Given the description of an element on the screen output the (x, y) to click on. 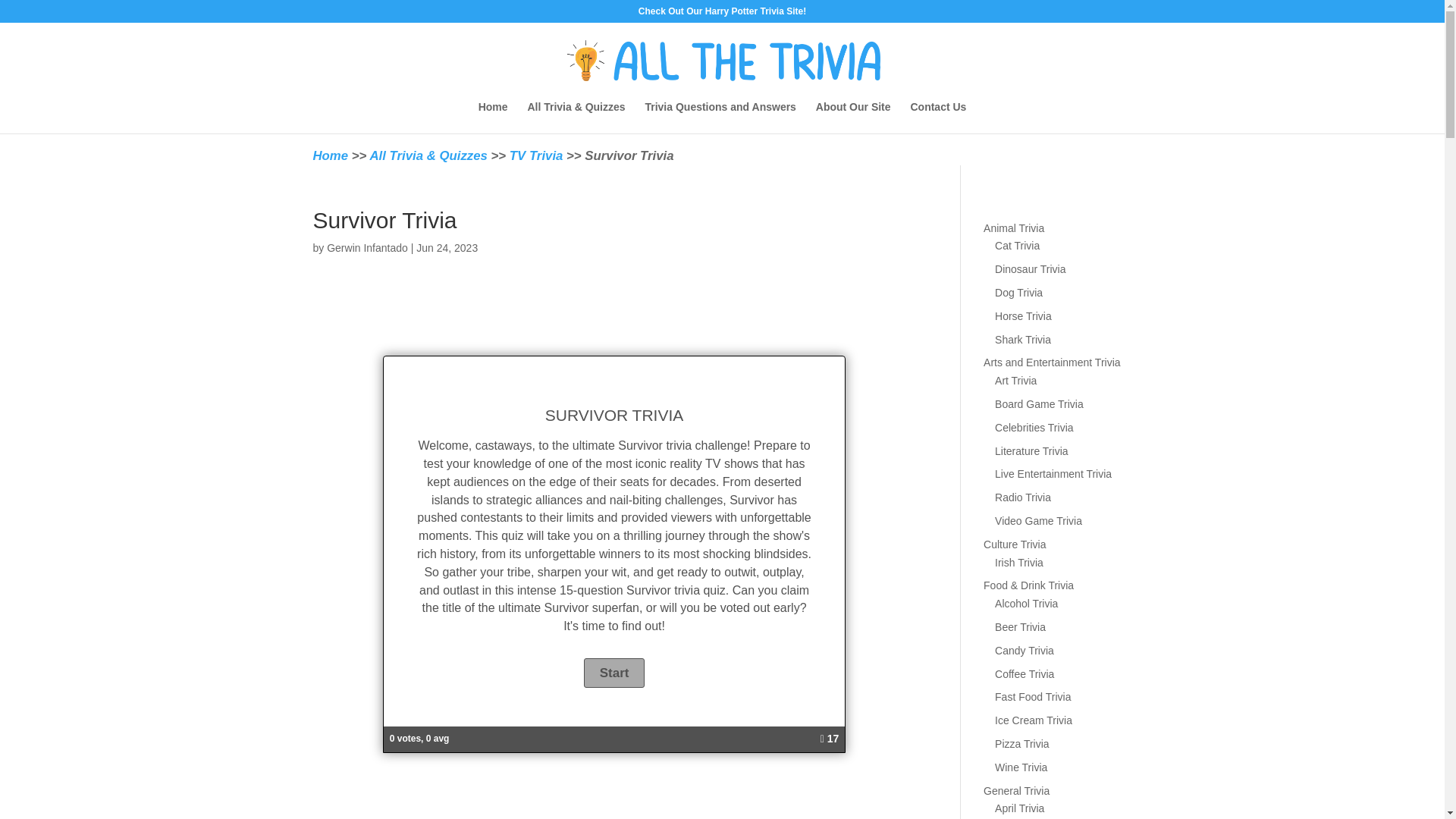
Home (330, 155)
Posts by Gerwin Infantado (366, 247)
Check Out Our Harry Potter Trivia Site! (722, 14)
Go to TV Trivia. (536, 164)
Gerwin Infantado (366, 247)
Start (614, 672)
About Our Site (853, 117)
Trivia Questions and Answers (719, 117)
Home (493, 117)
Go to All The Trivia. (330, 155)
